Given the description of an element on the screen output the (x, y) to click on. 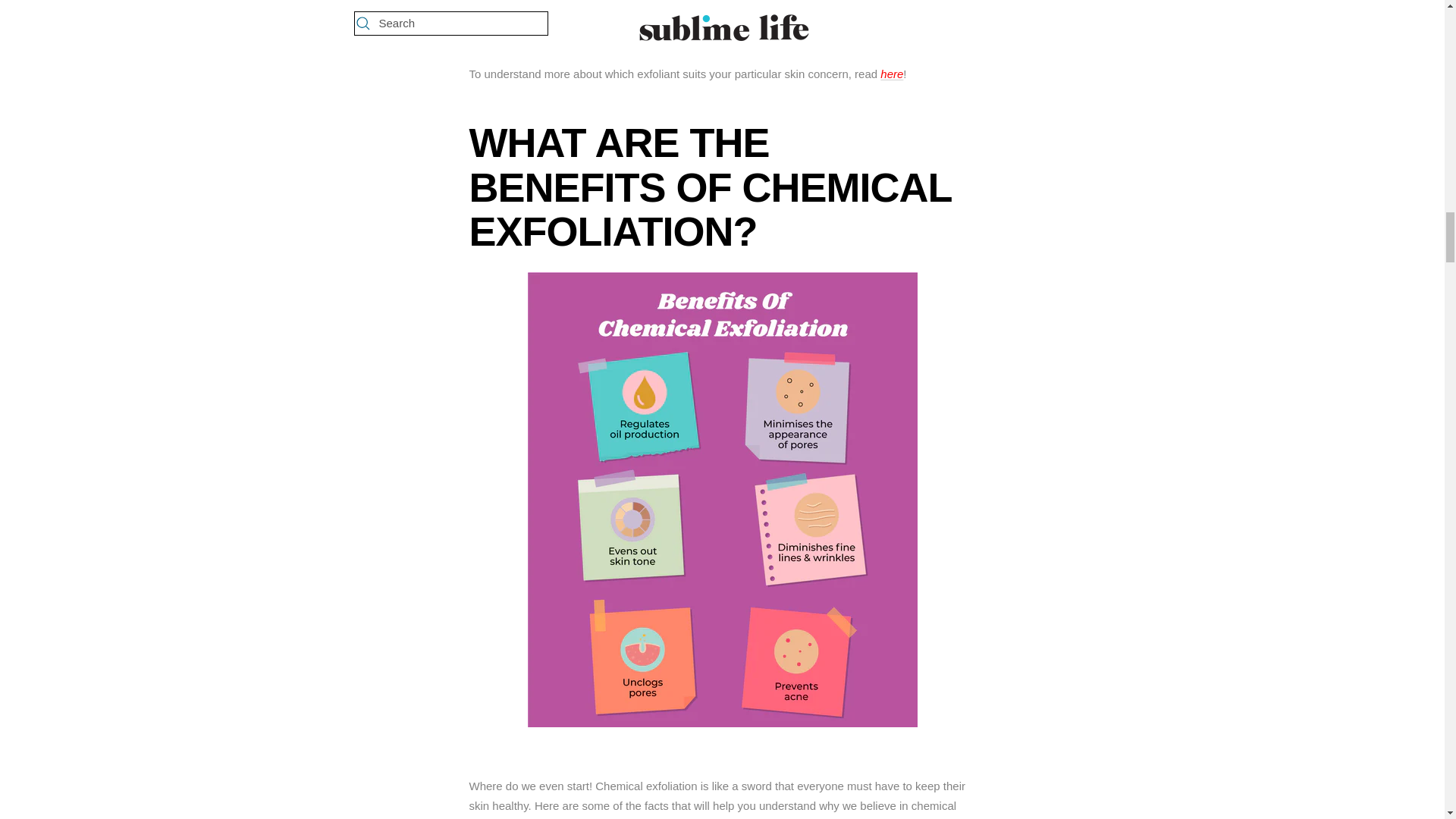
here (891, 73)
